Given the description of an element on the screen output the (x, y) to click on. 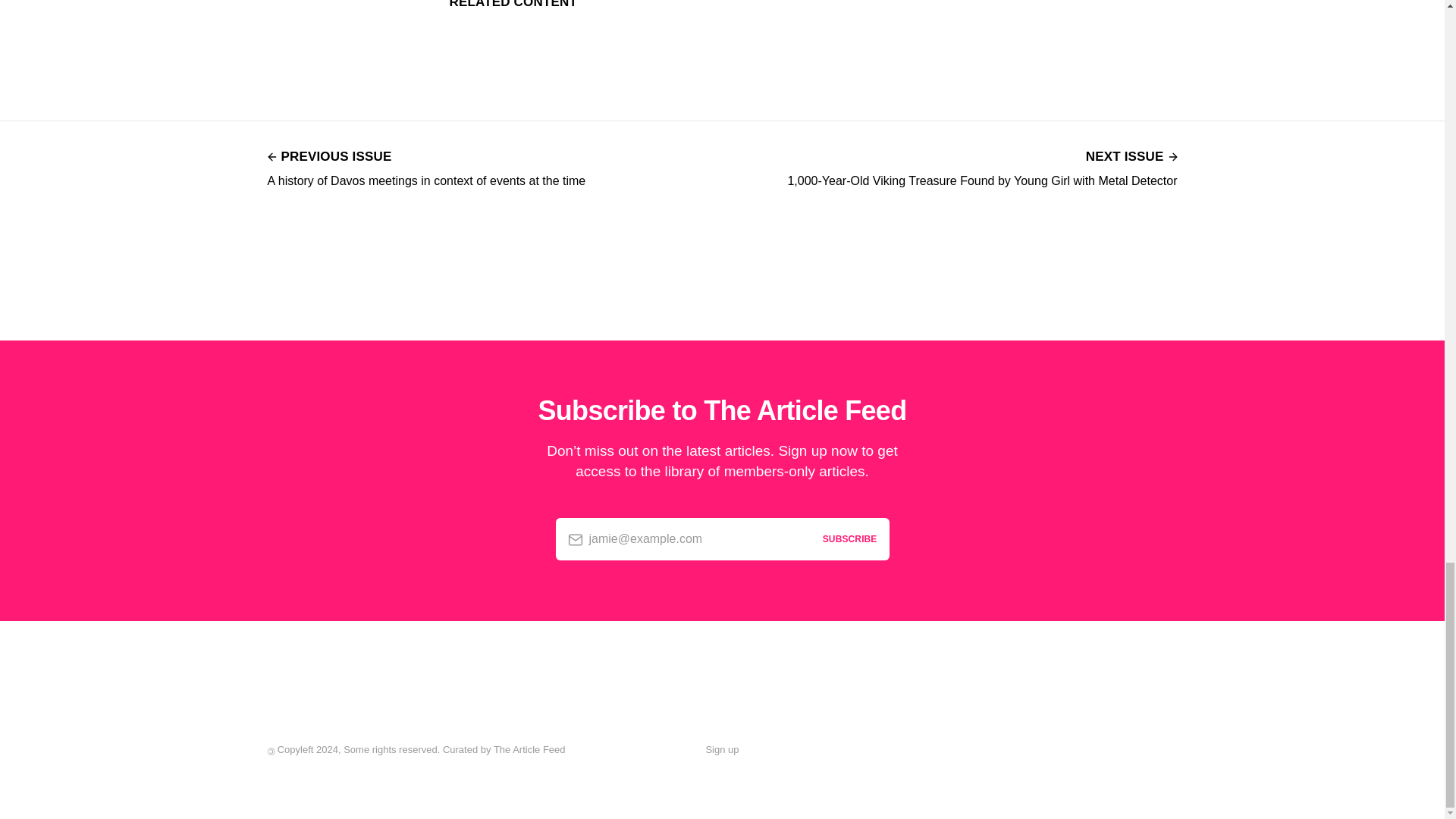
Sign up (721, 750)
The Article Feed (529, 749)
